Given the description of an element on the screen output the (x, y) to click on. 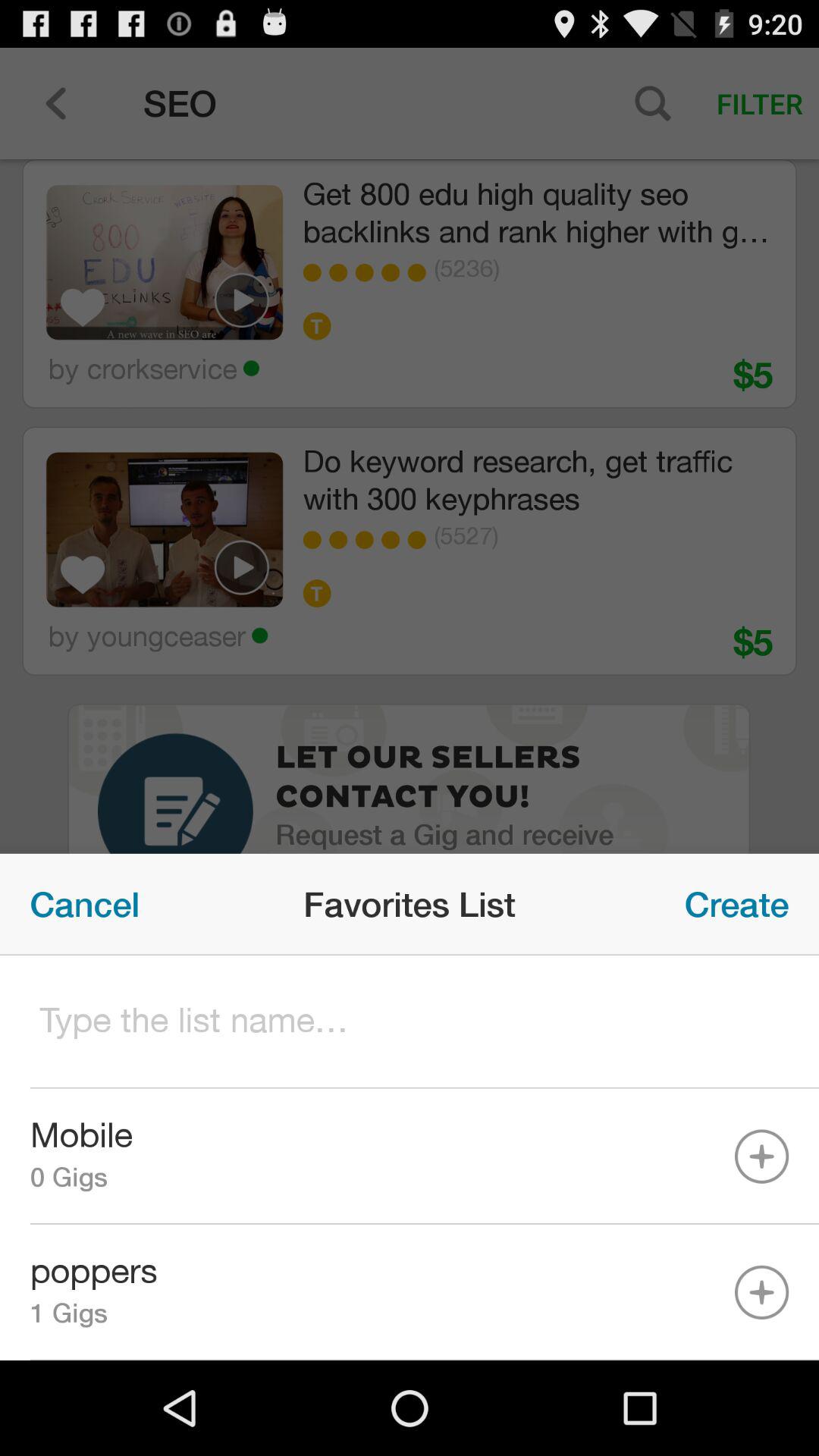
open icon on the left (84, 903)
